Given the description of an element on the screen output the (x, y) to click on. 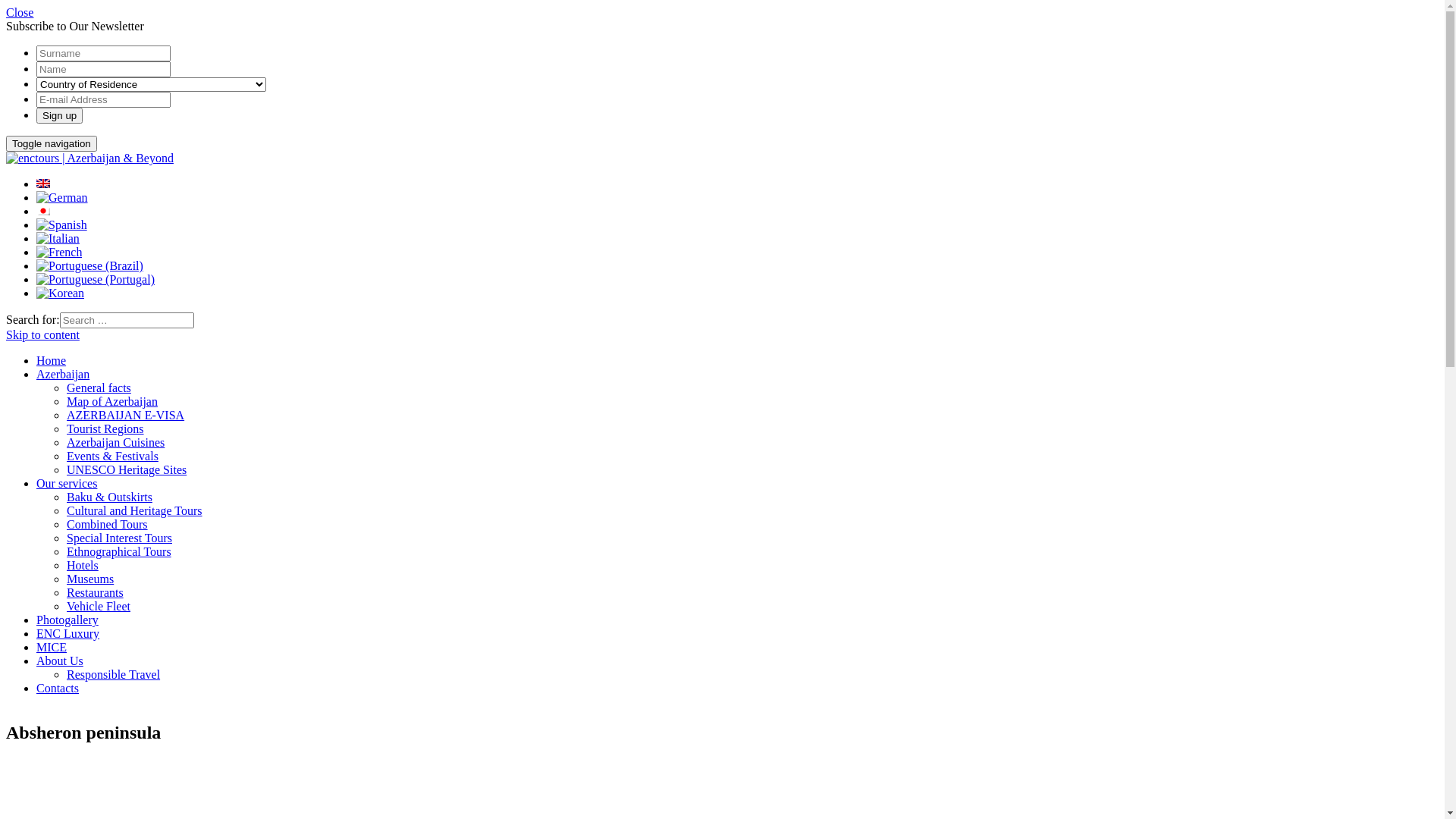
MICE Element type: text (51, 646)
AZERBAIJAN E-VISA Element type: text (125, 414)
Map of Azerbaijan Element type: text (111, 401)
Events & Festivals Element type: text (112, 455)
UNESCO Heritage Sites Element type: text (126, 469)
Special Interest Tours Element type: text (119, 537)
Museums Element type: text (89, 578)
Hotels Element type: text (82, 564)
ENC Luxury Element type: text (67, 633)
Restaurants Element type: text (94, 592)
Photogallery Element type: text (67, 619)
Baku & Outskirts Element type: text (109, 496)
Toggle navigation Element type: text (51, 143)
Ethnographical Tours Element type: text (118, 551)
Skip to content Element type: text (42, 334)
Contacts Element type: text (57, 687)
Tourist Regions Element type: text (105, 428)
Our services Element type: text (66, 482)
General facts Element type: text (98, 387)
About Us Element type: text (59, 660)
Responsible Travel Element type: text (113, 674)
Sign up Element type: text (59, 115)
Home Element type: text (50, 360)
Vehicle Fleet Element type: text (98, 605)
Combined Tours Element type: text (106, 523)
Azerbaijan Element type: text (62, 373)
Azerbaijan Cuisines Element type: text (115, 442)
Close Element type: text (19, 12)
Cultural and Heritage Tours Element type: text (134, 510)
